Given the description of an element on the screen output the (x, y) to click on. 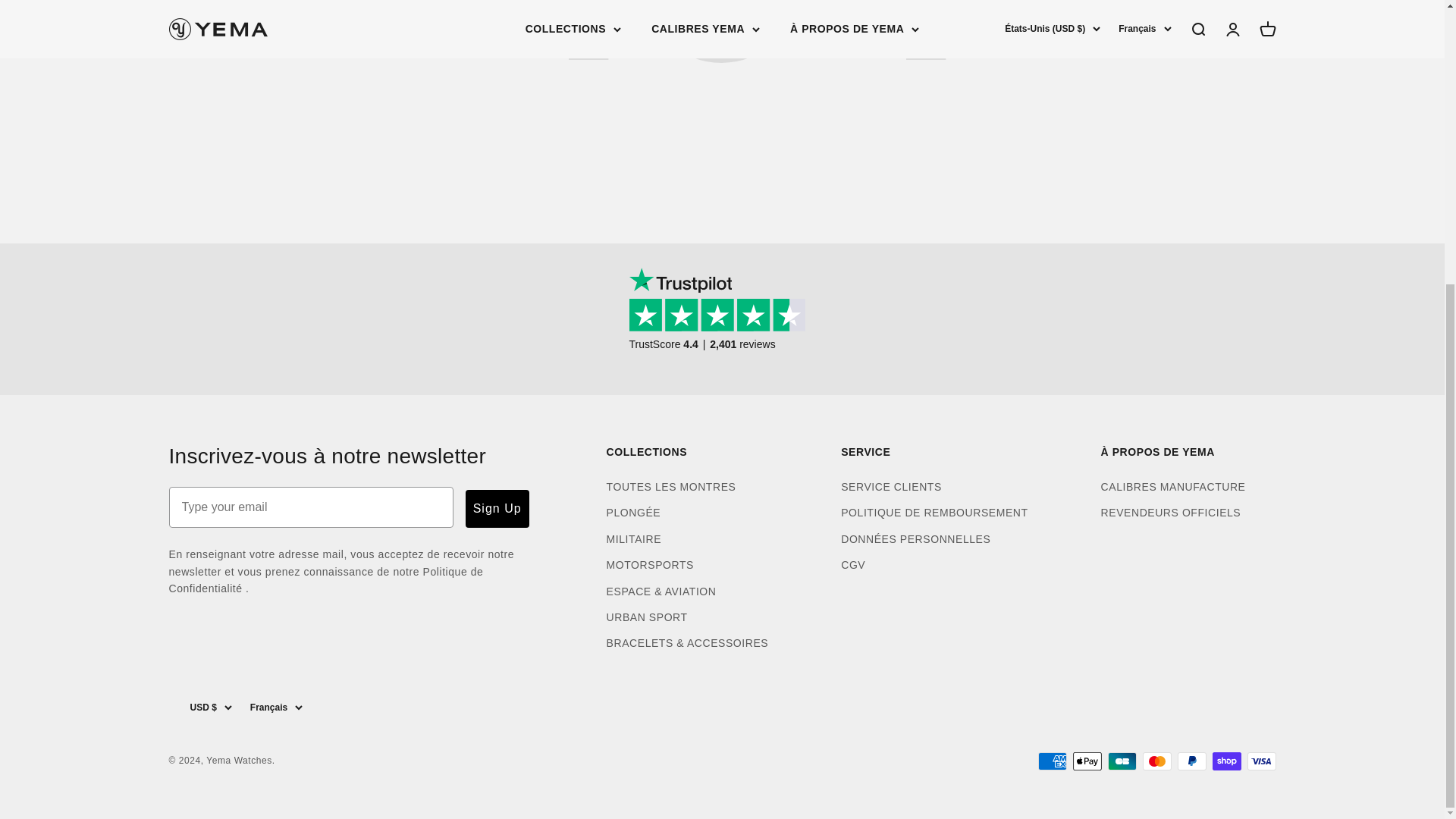
Customer reviews powered by Trustpilot (721, 321)
